Given the description of an element on the screen output the (x, y) to click on. 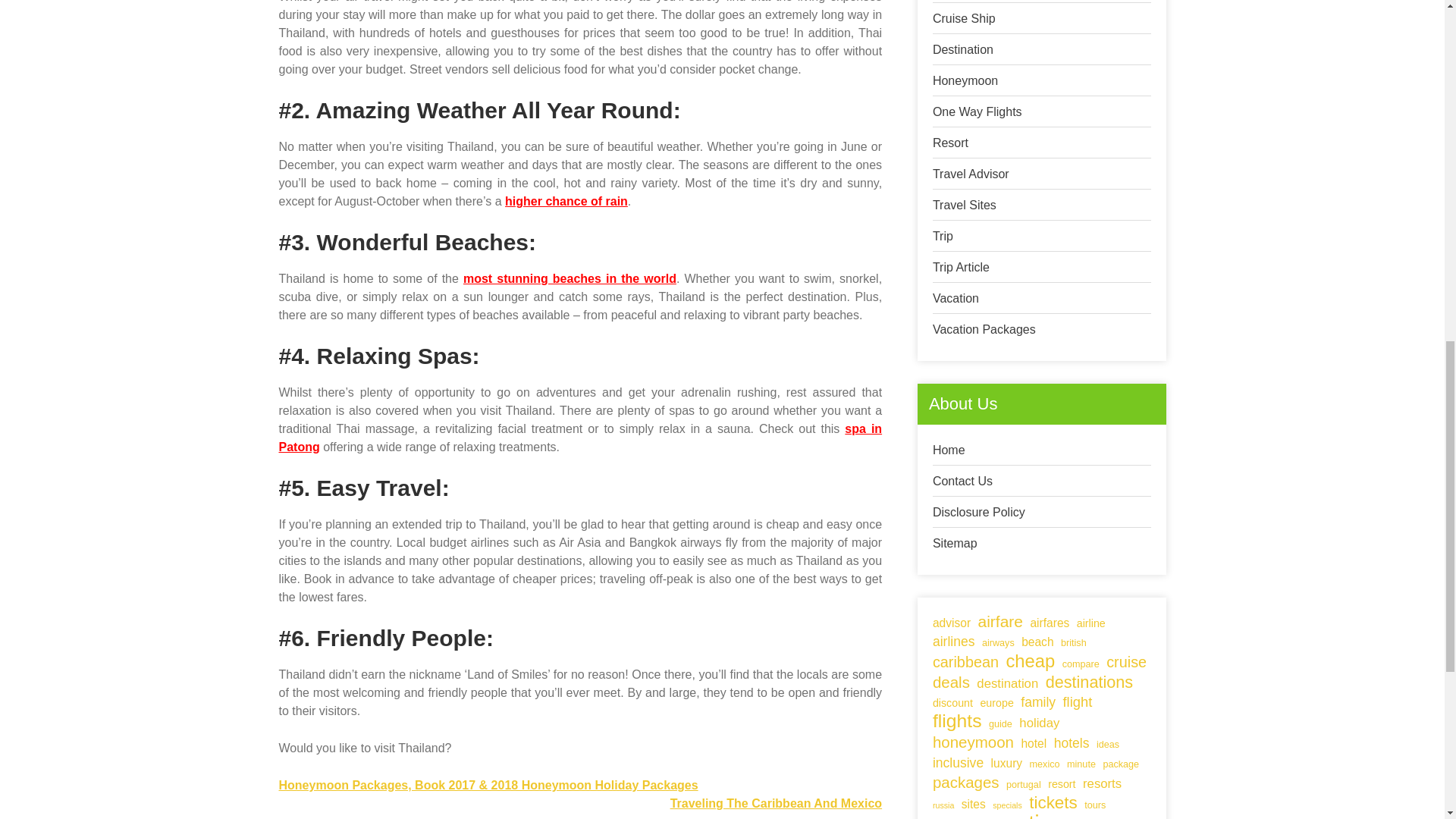
higher chance of rain (566, 201)
spa in Patong (580, 437)
Traveling The Caribbean And Mexico (775, 802)
most stunning beaches in the world (570, 278)
